Given the description of an element on the screen output the (x, y) to click on. 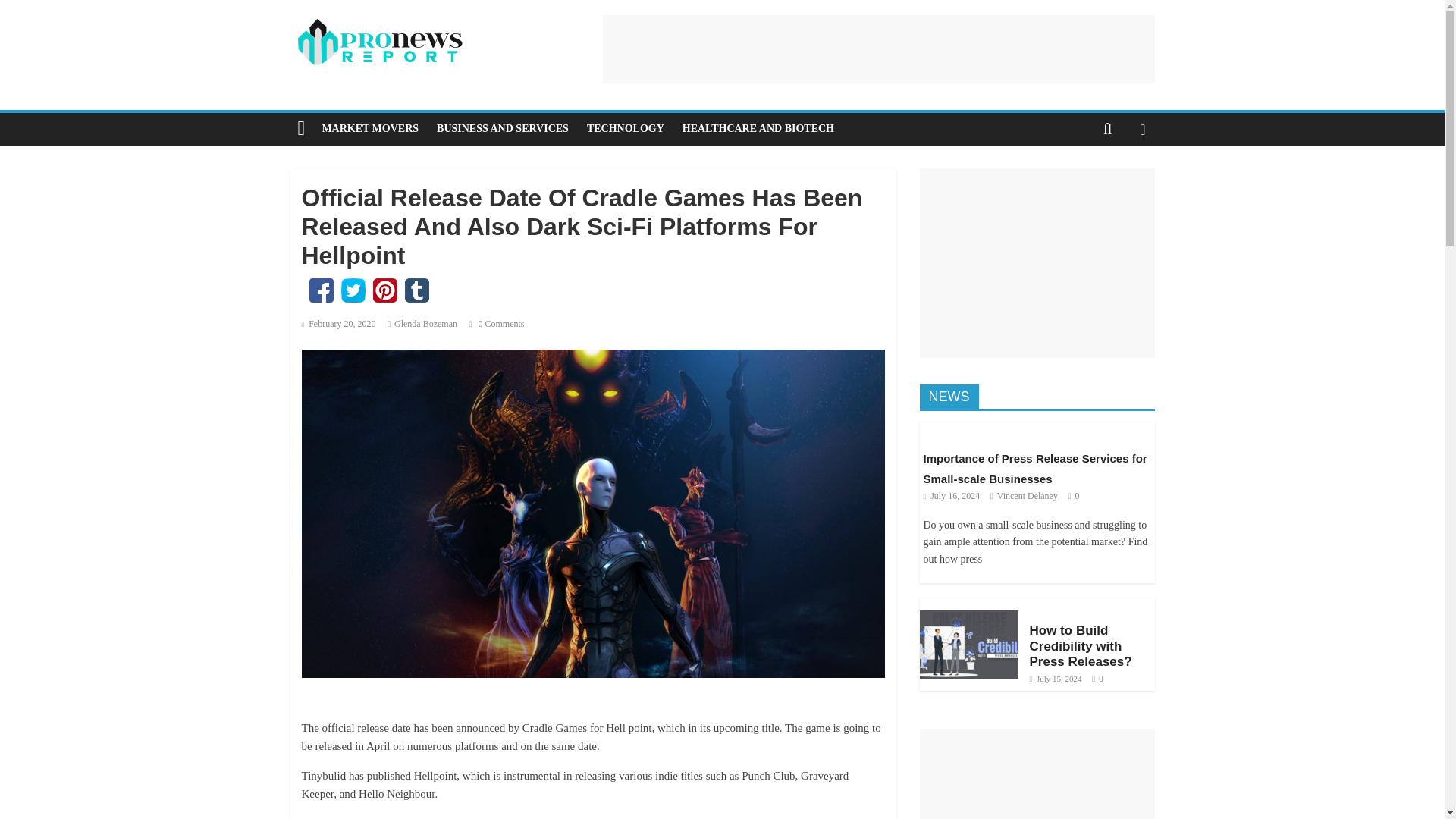
Pro News Report (301, 128)
BUSINESS AND SERVICES (503, 128)
Glenda Bozeman (425, 323)
MARKET MOVERS (370, 128)
February 20, 2020 (338, 323)
Advertisement (878, 49)
View a random post (1142, 128)
Glenda Bozeman (425, 323)
6:49 pm (338, 323)
HEALTHCARE AND BIOTECH (757, 128)
0 Comments (496, 323)
TECHNOLOGY (625, 128)
